Given the description of an element on the screen output the (x, y) to click on. 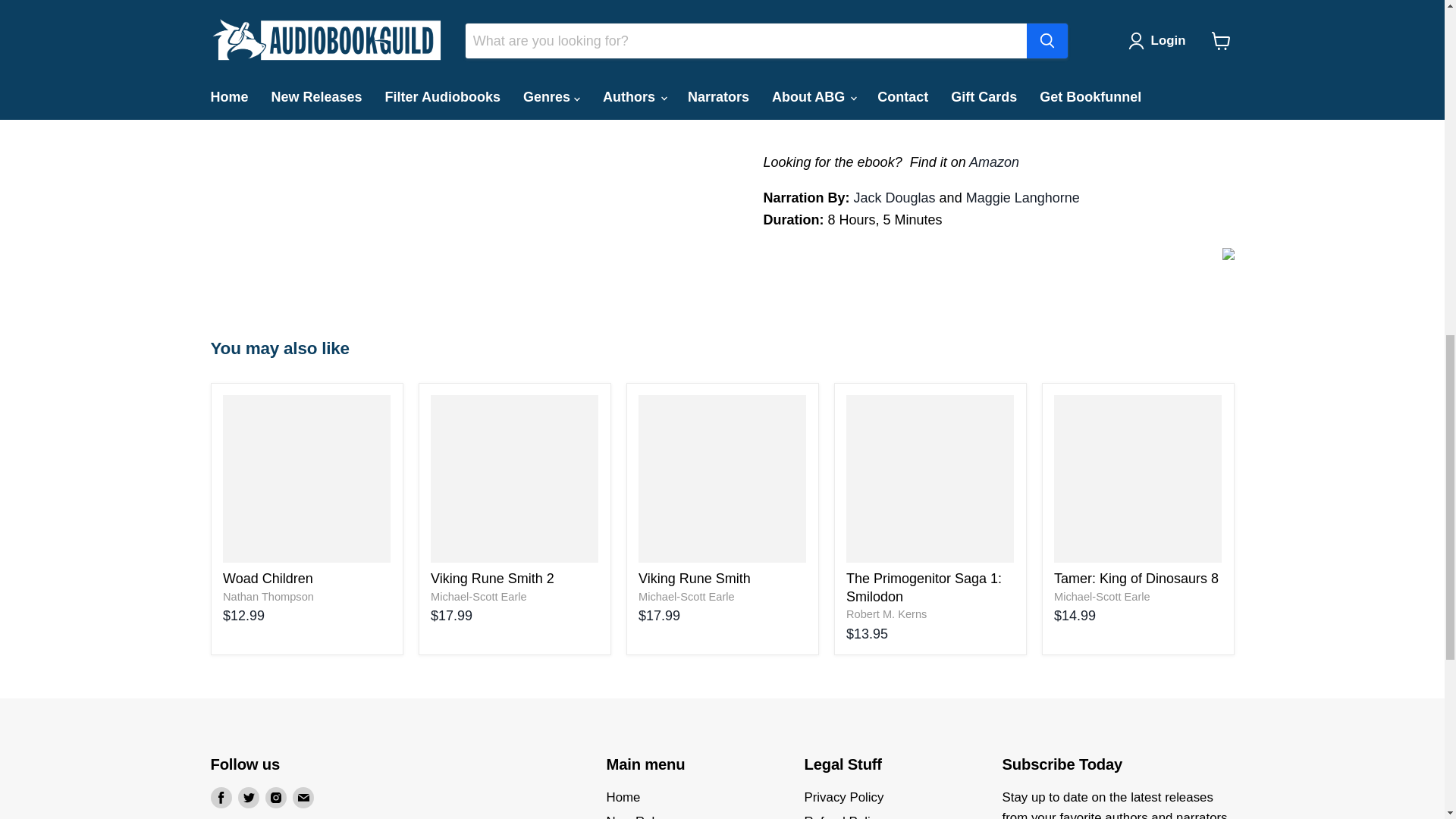
Robert M. Kerns (885, 613)
Michael-Scott Earle (687, 596)
Nathan Thompson (268, 596)
Michael-Scott Earle (1102, 596)
Twitter (248, 797)
Michael-Scott Earle (478, 596)
Facebook (221, 797)
